Given the description of an element on the screen output the (x, y) to click on. 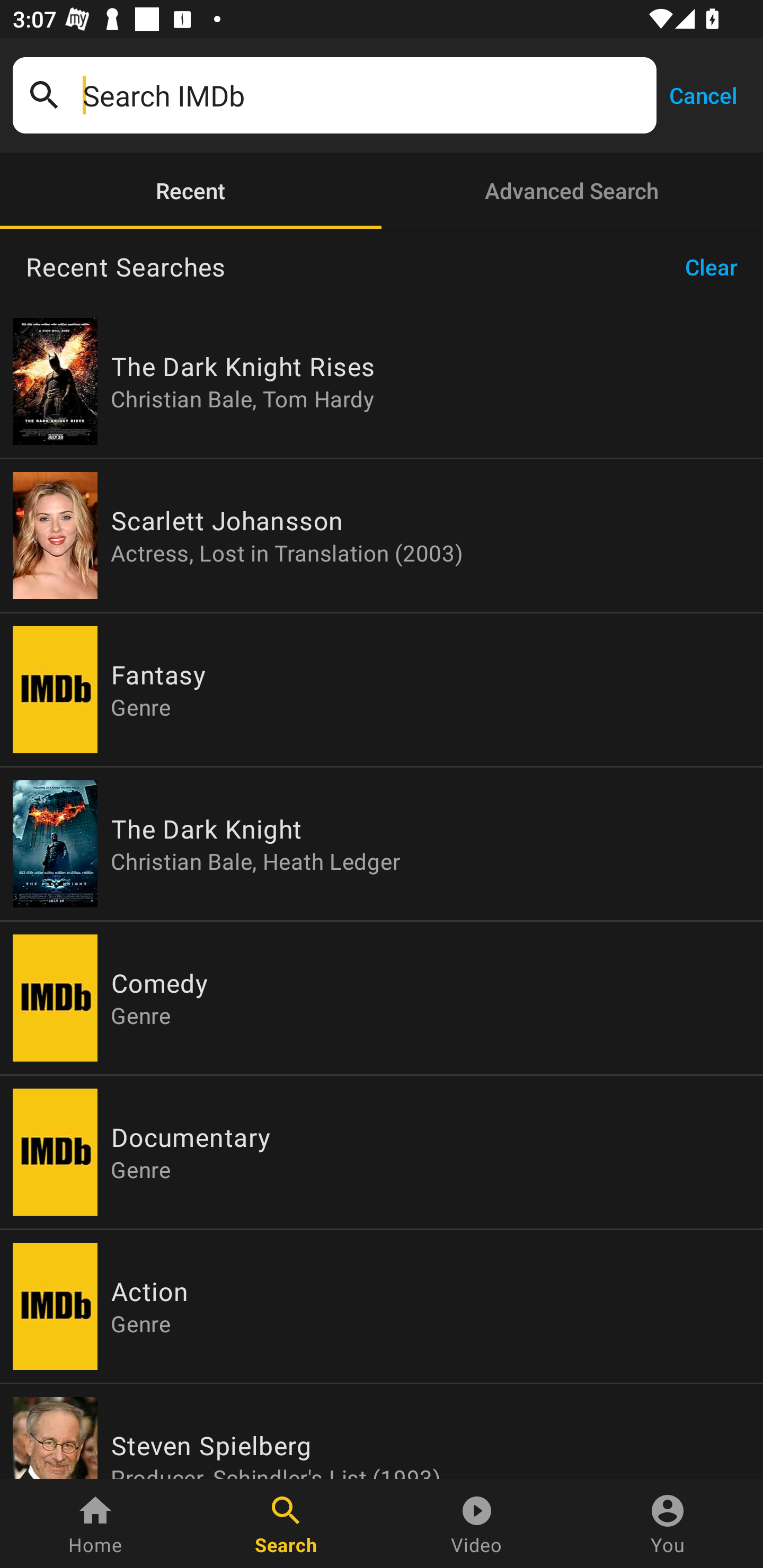
Cancel (703, 94)
Search IMDb (363, 95)
Advanced Search (572, 190)
Clear (717, 266)
The Dark Knight Rises Christian Bale, Tom Hardy (381, 381)
Fantasy Genre (381, 689)
The Dark Knight Christian Bale, Heath Ledger (381, 844)
Comedy Genre (381, 997)
Documentary Genre (381, 1151)
Action Genre (381, 1305)
Steven Spielberg Producer, Schindler's List (1993) (381, 1431)
Home (95, 1523)
Video (476, 1523)
You (667, 1523)
